Given the description of an element on the screen output the (x, y) to click on. 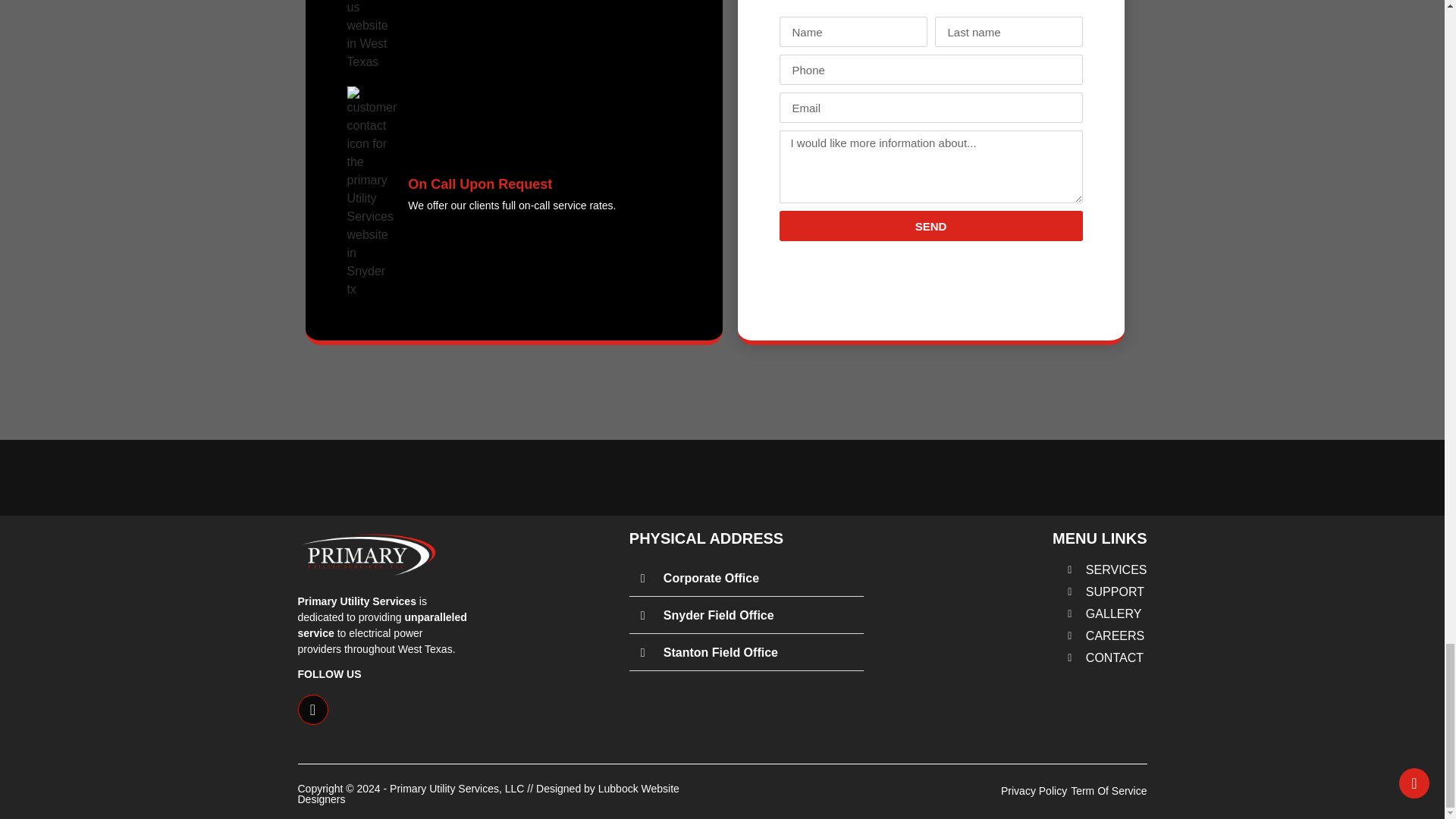
SEND (930, 225)
Snyder Field Office (718, 615)
Corporate Office (710, 577)
Stanton Field Office (720, 652)
